Given the description of an element on the screen output the (x, y) to click on. 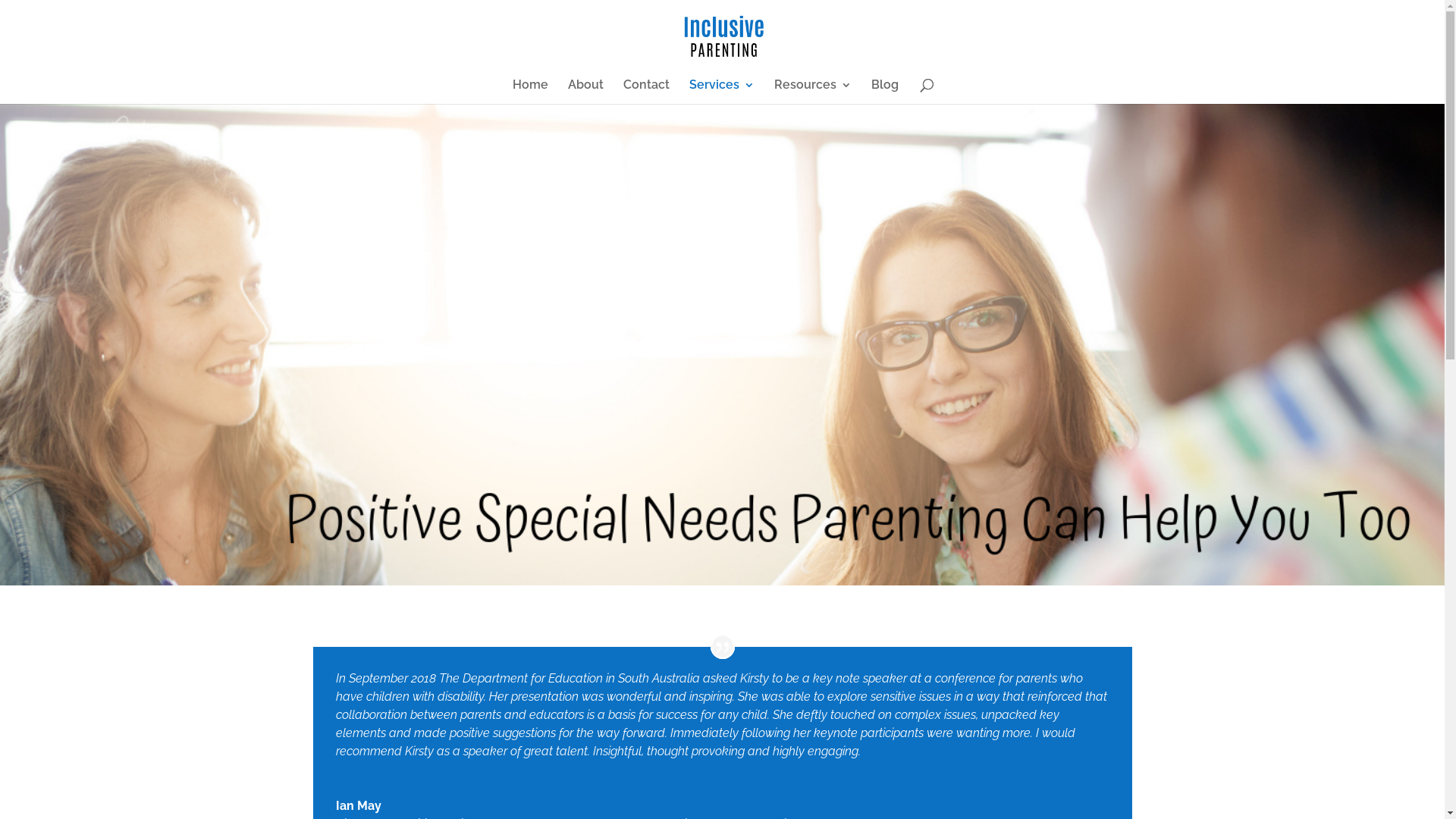
Blog Element type: text (884, 91)
About Element type: text (585, 91)
Services Element type: text (721, 91)
Resources Element type: text (812, 91)
Contact Element type: text (646, 91)
Home Element type: text (530, 91)
